Given the description of an element on the screen output the (x, y) to click on. 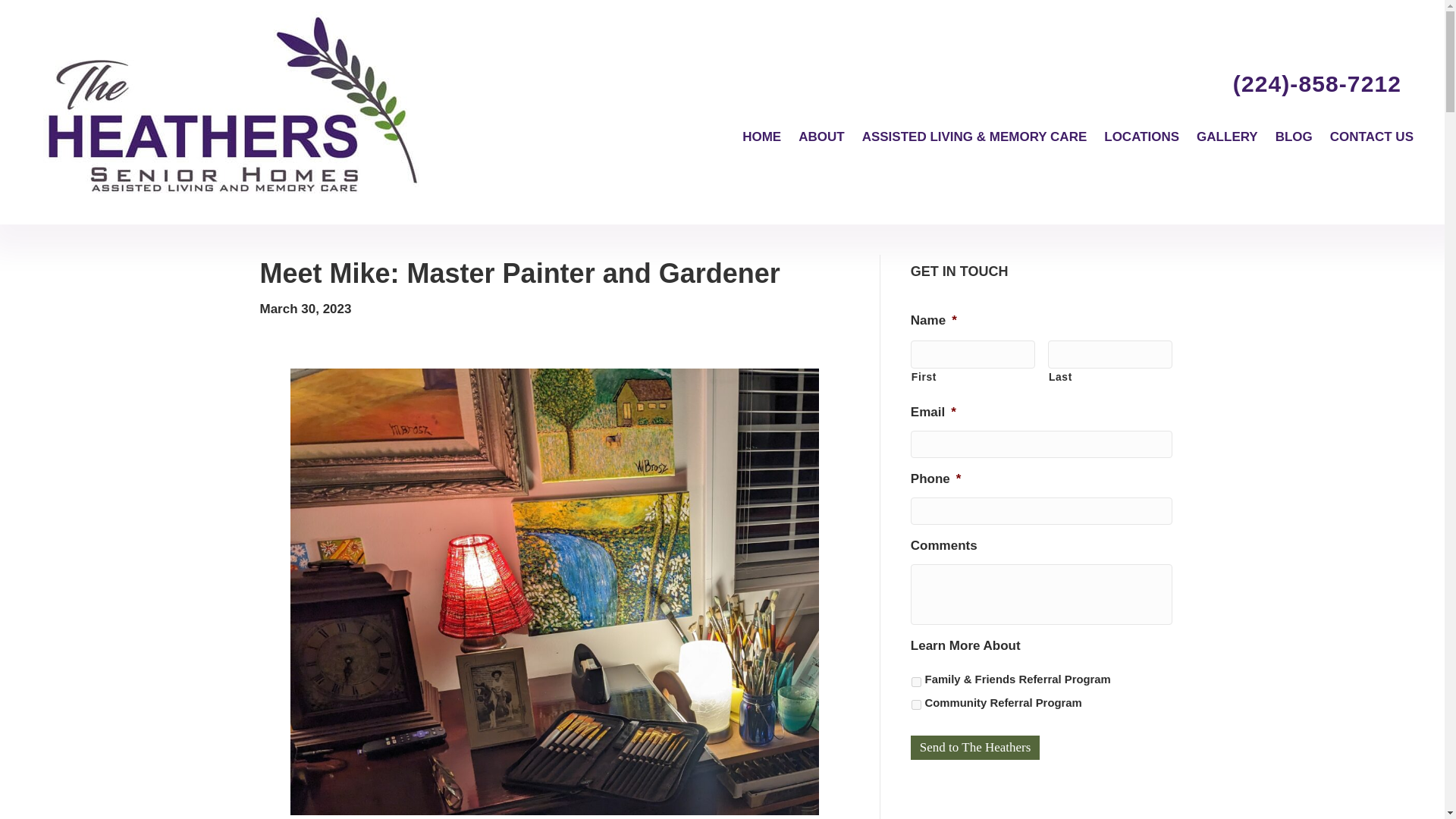
logo (232, 107)
BLOG (1293, 136)
Send to The Heathers (976, 747)
LOCATIONS (1142, 136)
GALLERY (1227, 136)
Community Referral Program (916, 705)
ABOUT (820, 136)
HOME (761, 136)
CONTACT US (1372, 136)
Send to The Heathers (976, 747)
